Given the description of an element on the screen output the (x, y) to click on. 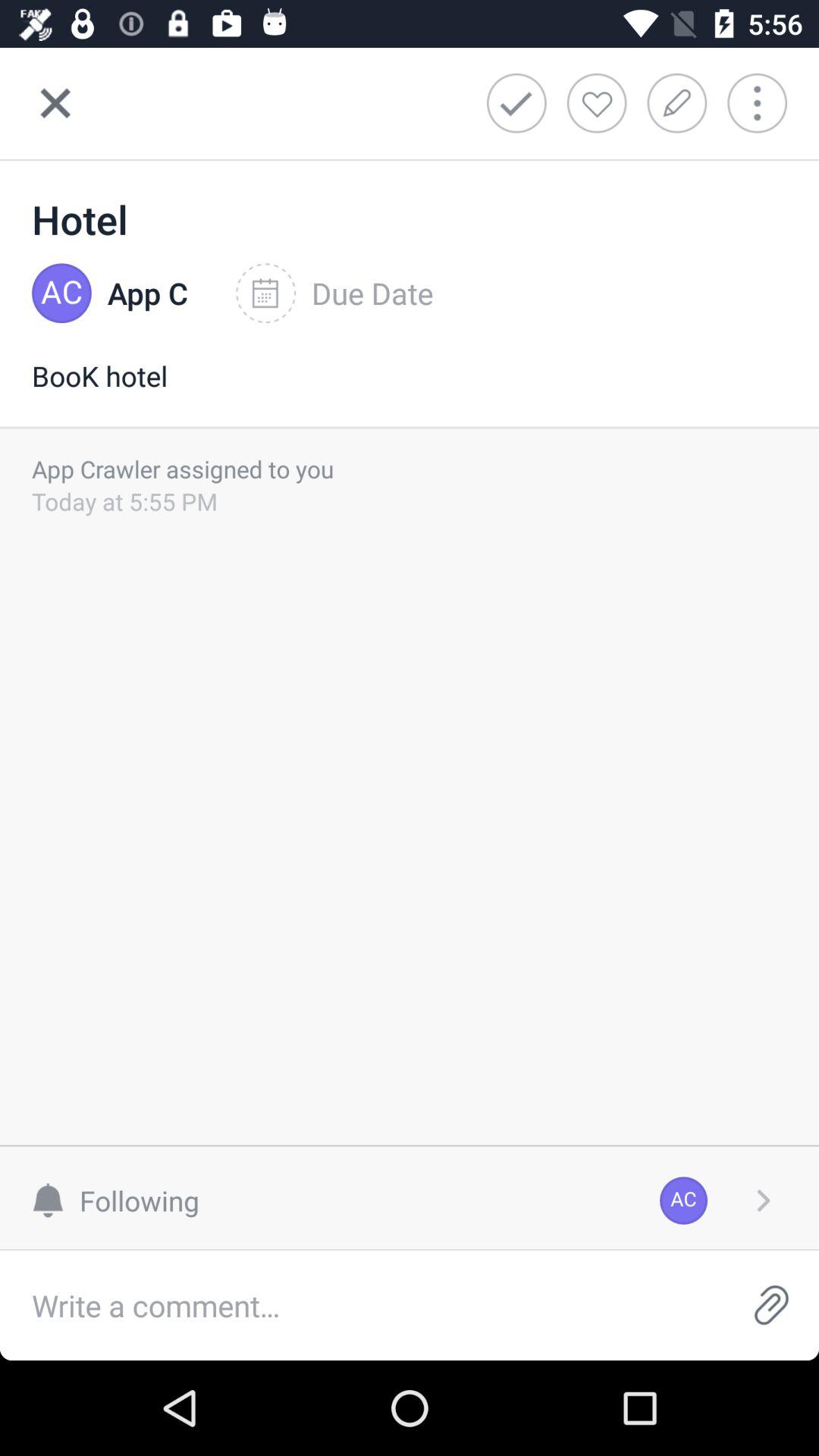
turn off item to the left of due date icon (147, 293)
